Given the description of an element on the screen output the (x, y) to click on. 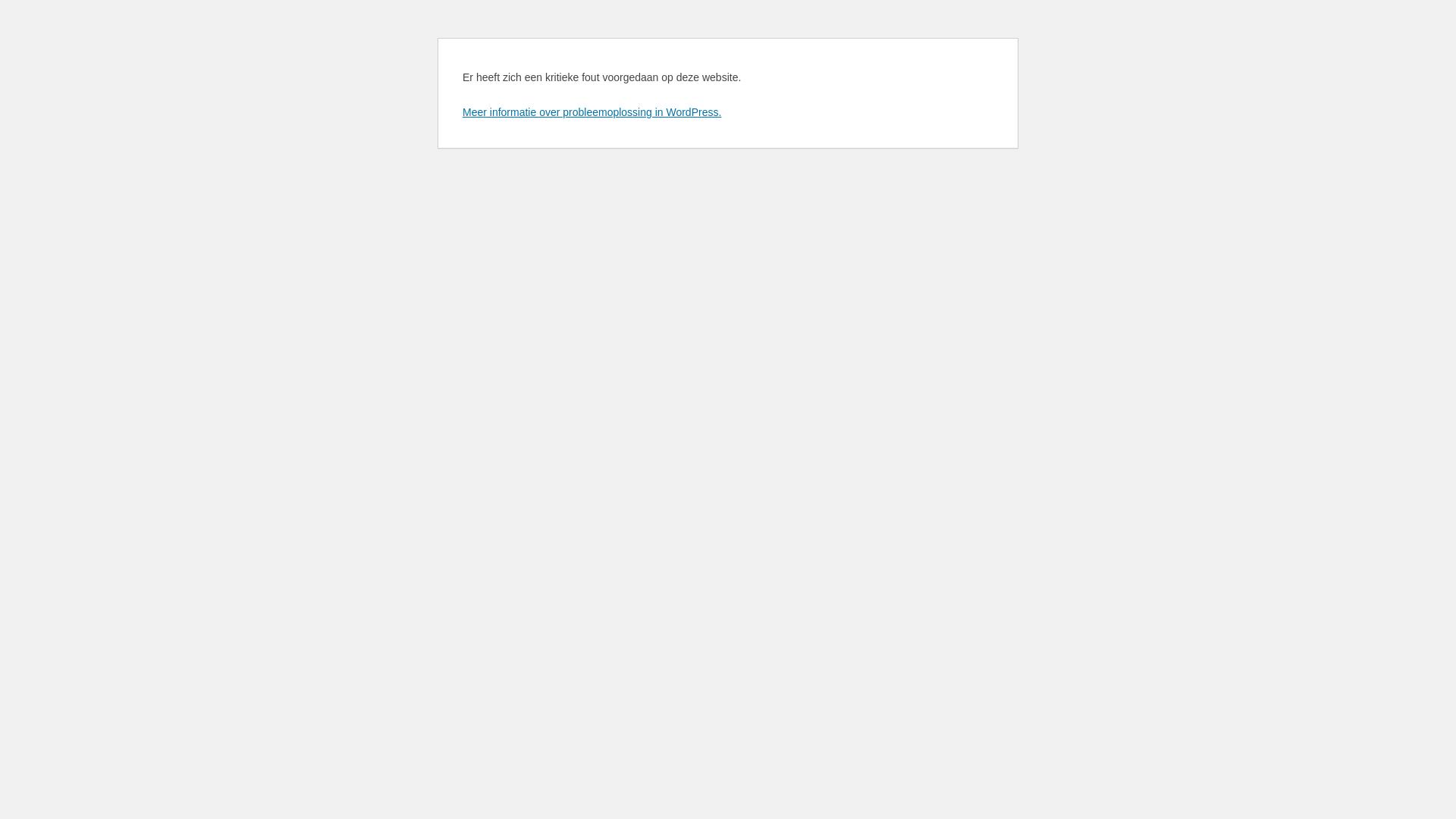
Meer informatie over probleemoplossing in WordPress. Element type: text (591, 112)
